Given the description of an element on the screen output the (x, y) to click on. 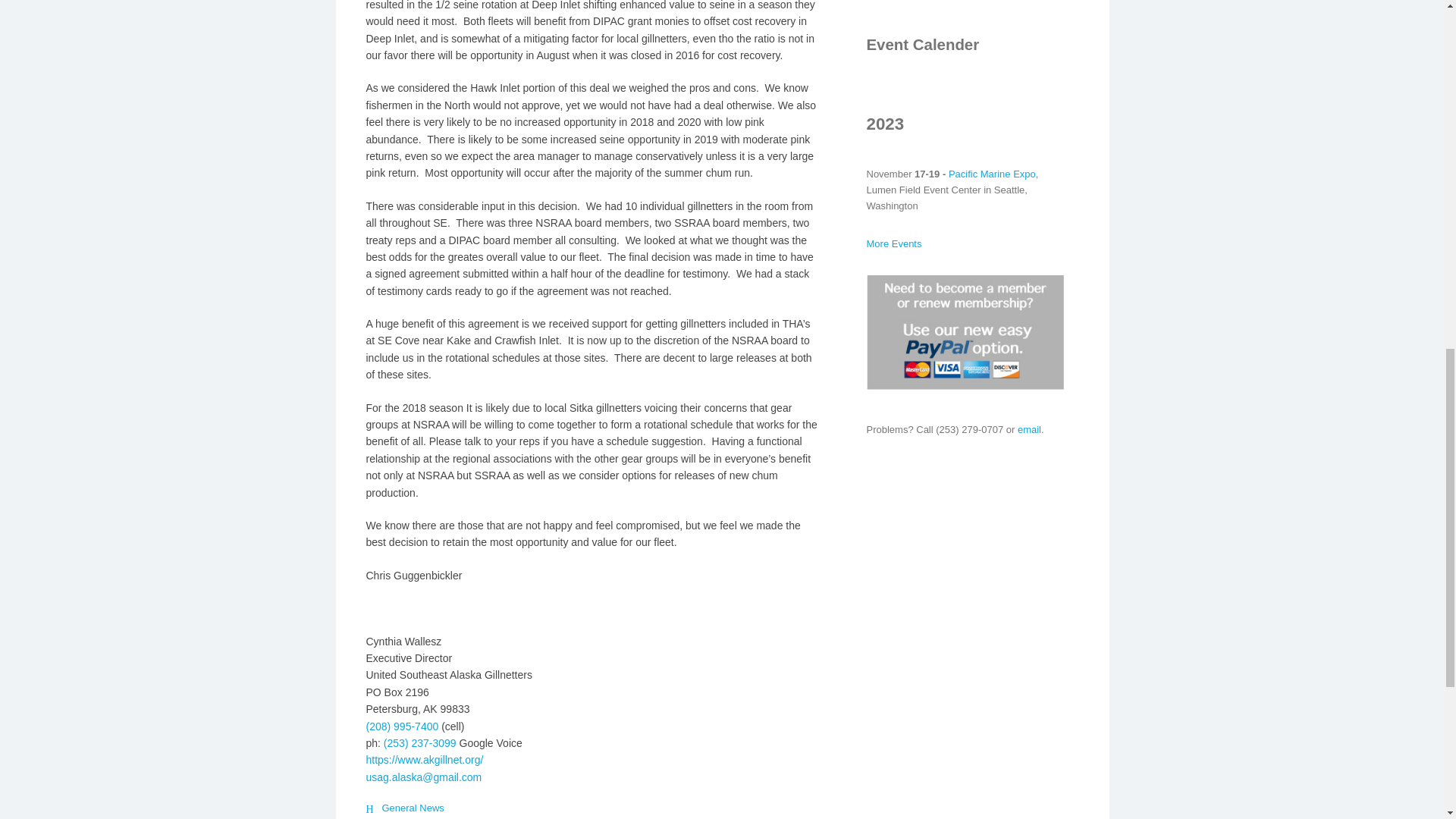
  General News (409, 808)
